Given the description of an element on the screen output the (x, y) to click on. 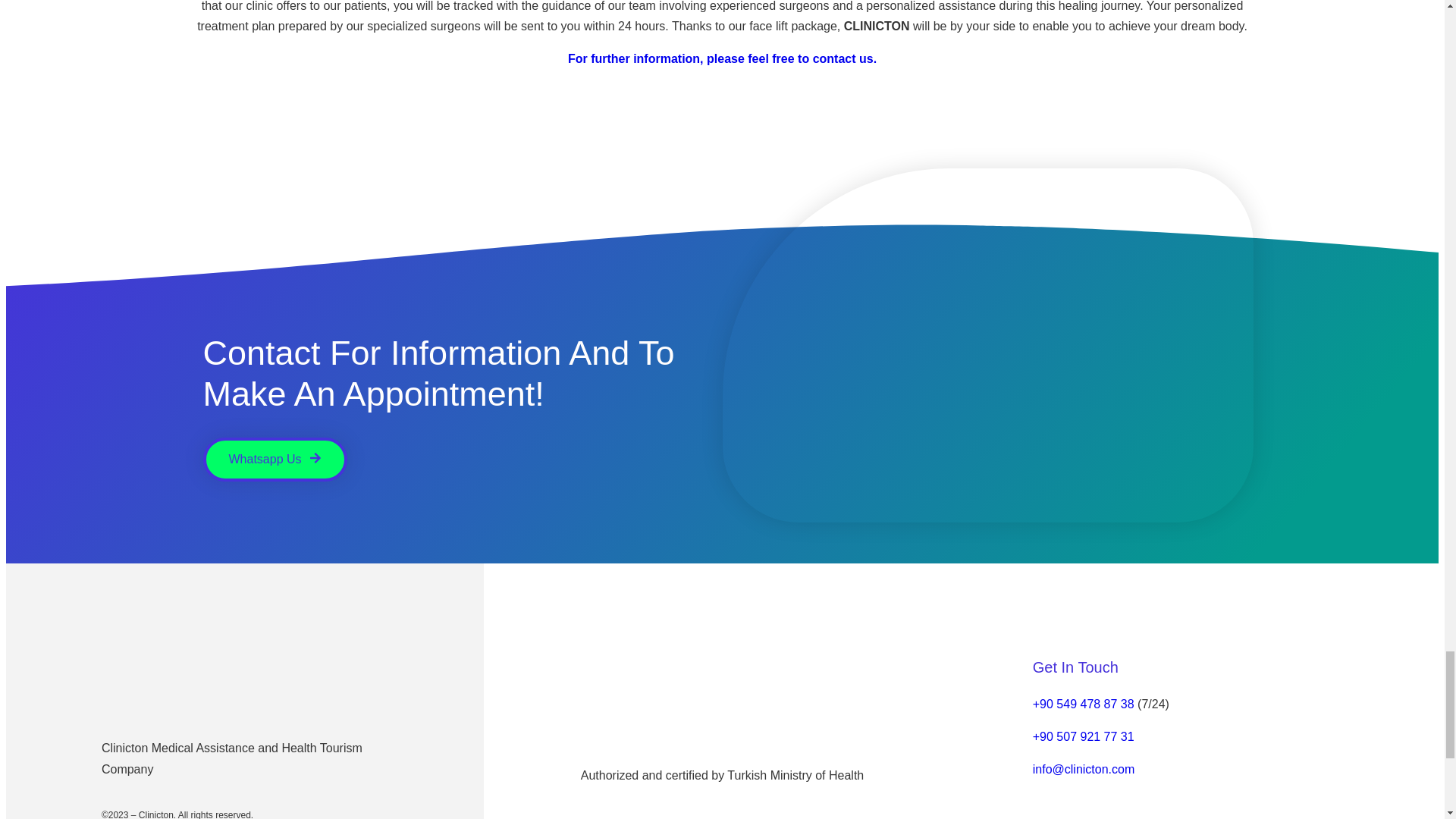
For further information, please feel free to contact us. (721, 58)
Whatsapp Us (275, 459)
